Given the description of an element on the screen output the (x, y) to click on. 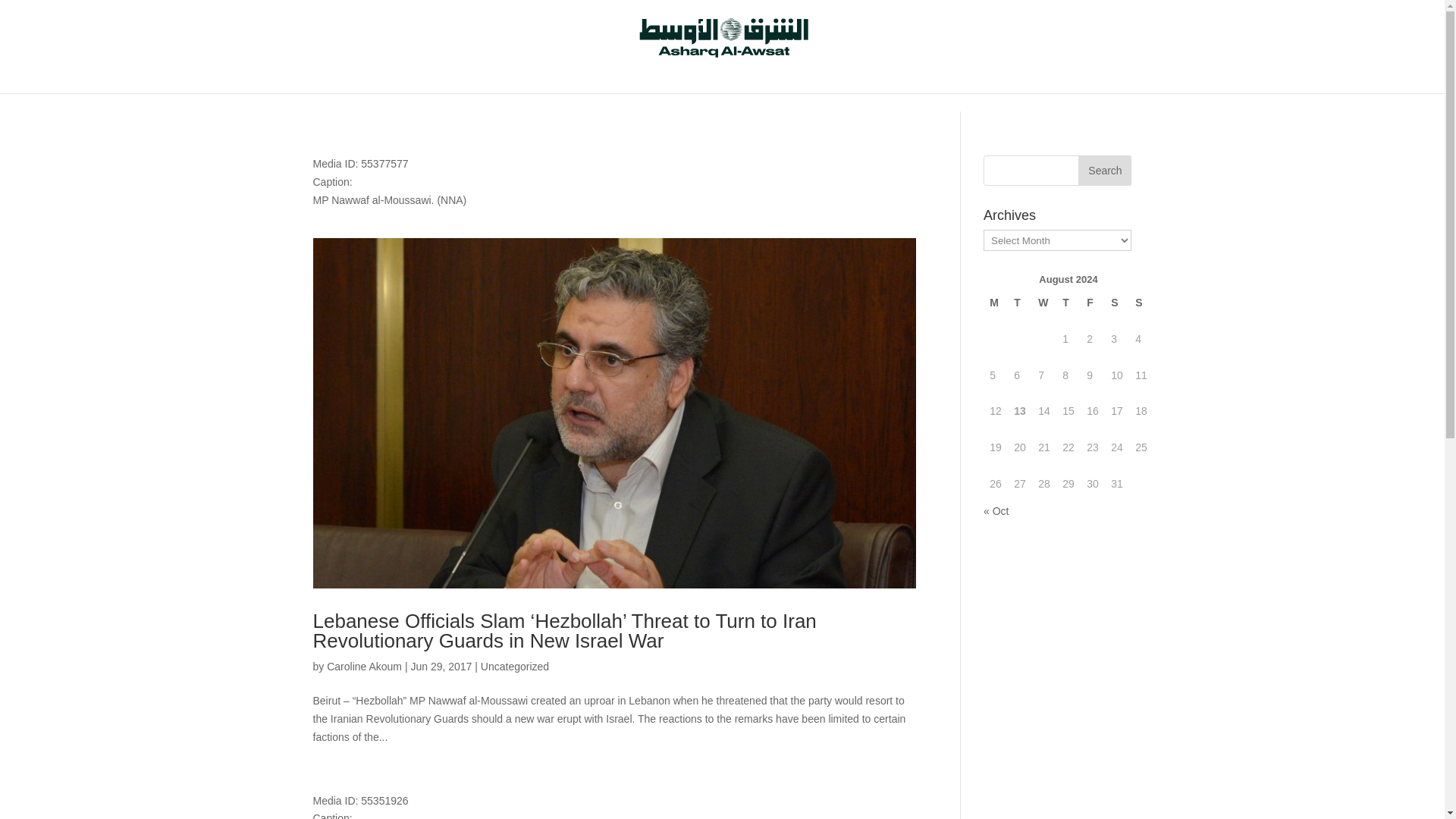
Posts by Caroline Akoum (363, 666)
Uncategorized (514, 666)
Caroline Akoum (363, 666)
Search (1104, 170)
Search (1104, 170)
